Given the description of an element on the screen output the (x, y) to click on. 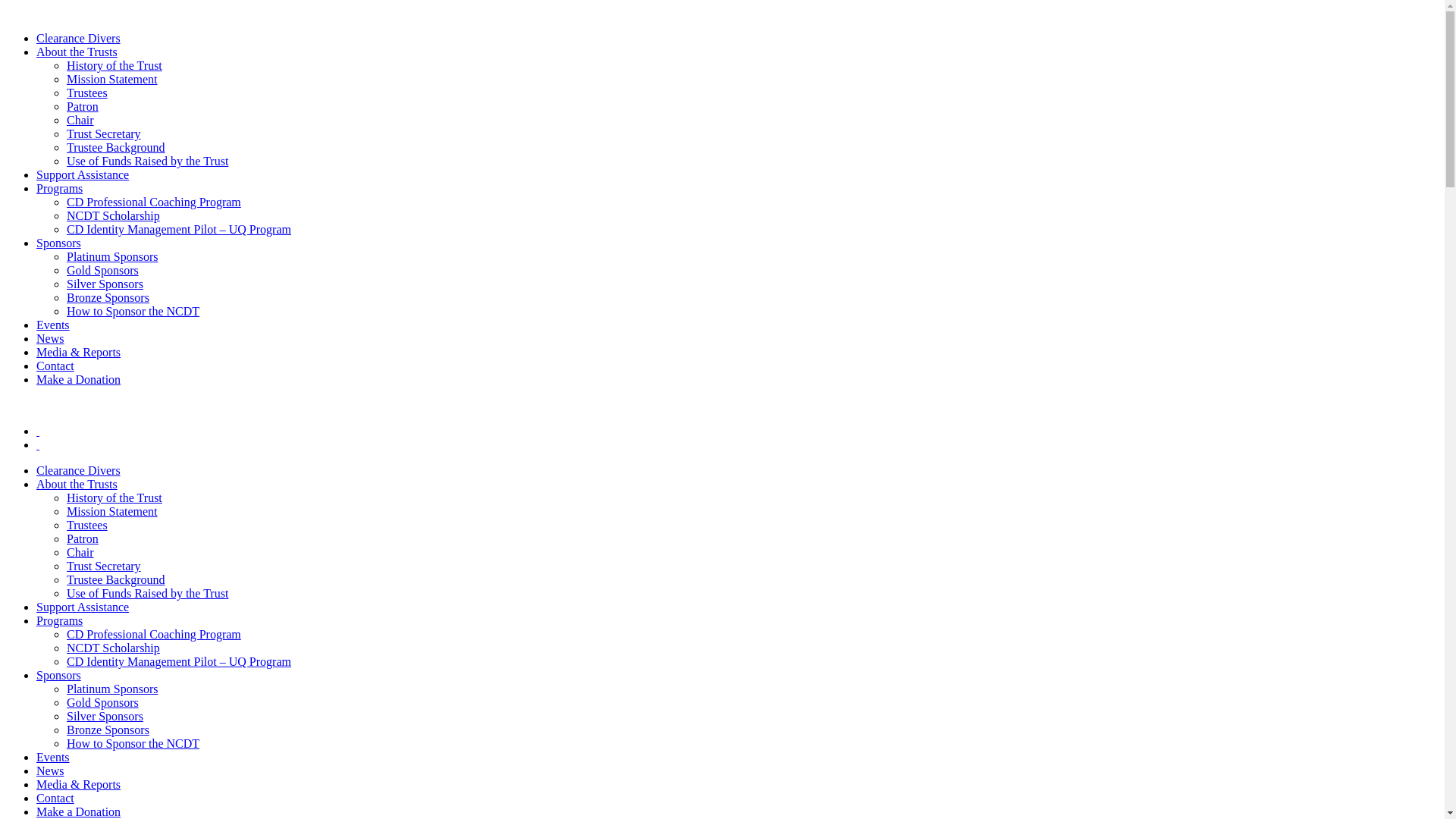
Gold Sponsors Element type: text (102, 269)
Events Element type: text (52, 756)
Media & Reports Element type: text (78, 784)
Mission Statement Element type: text (111, 78)
Gold Sponsors Element type: text (102, 702)
Bronze Sponsors Element type: text (107, 729)
History of the Trust Element type: text (114, 497)
Clearance Divers Element type: text (78, 470)
Make a Donation Element type: text (78, 379)
NCDT Scholarship Element type: text (113, 647)
Support Assistance Element type: text (82, 606)
Support Assistance Element type: text (82, 174)
Silver Sponsors Element type: text (104, 715)
CD Professional Coaching Program Element type: text (153, 633)
Media & Reports Element type: text (78, 351)
How to Sponsor the NCDT Element type: text (132, 743)
Clearance Divers Element type: text (78, 37)
Silver Sponsors Element type: text (104, 283)
Trustee Background Element type: text (115, 579)
Sponsors Element type: text (58, 674)
Contact Element type: text (55, 797)
Use of Funds Raised by the Trust Element type: text (147, 160)
Bronze Sponsors Element type: text (107, 297)
NCDT Scholarship Element type: text (113, 215)
Chair Element type: text (80, 552)
Trustees Element type: text (86, 92)
Patron Element type: text (82, 106)
Make a Donation Element type: text (78, 811)
Platinum Sponsors Element type: text (111, 688)
News Element type: text (49, 770)
  Element type: text (37, 444)
Contact Element type: text (55, 365)
Programs Element type: text (59, 620)
CD Professional Coaching Program Element type: text (153, 201)
Patron Element type: text (82, 538)
Chair Element type: text (80, 119)
News Element type: text (49, 338)
About the Trusts Element type: text (76, 51)
Programs Element type: text (59, 188)
Trust Secretary Element type: text (103, 565)
How to Sponsor the NCDT Element type: text (132, 310)
  Element type: text (37, 430)
Trust Secretary Element type: text (103, 133)
Trustee Background Element type: text (115, 147)
Trustees Element type: text (86, 524)
Sponsors Element type: text (58, 242)
Use of Funds Raised by the Trust Element type: text (147, 592)
About the Trusts Element type: text (76, 483)
Platinum Sponsors Element type: text (111, 256)
Mission Statement Element type: text (111, 511)
History of the Trust Element type: text (114, 65)
Events Element type: text (52, 324)
